Given the description of an element on the screen output the (x, y) to click on. 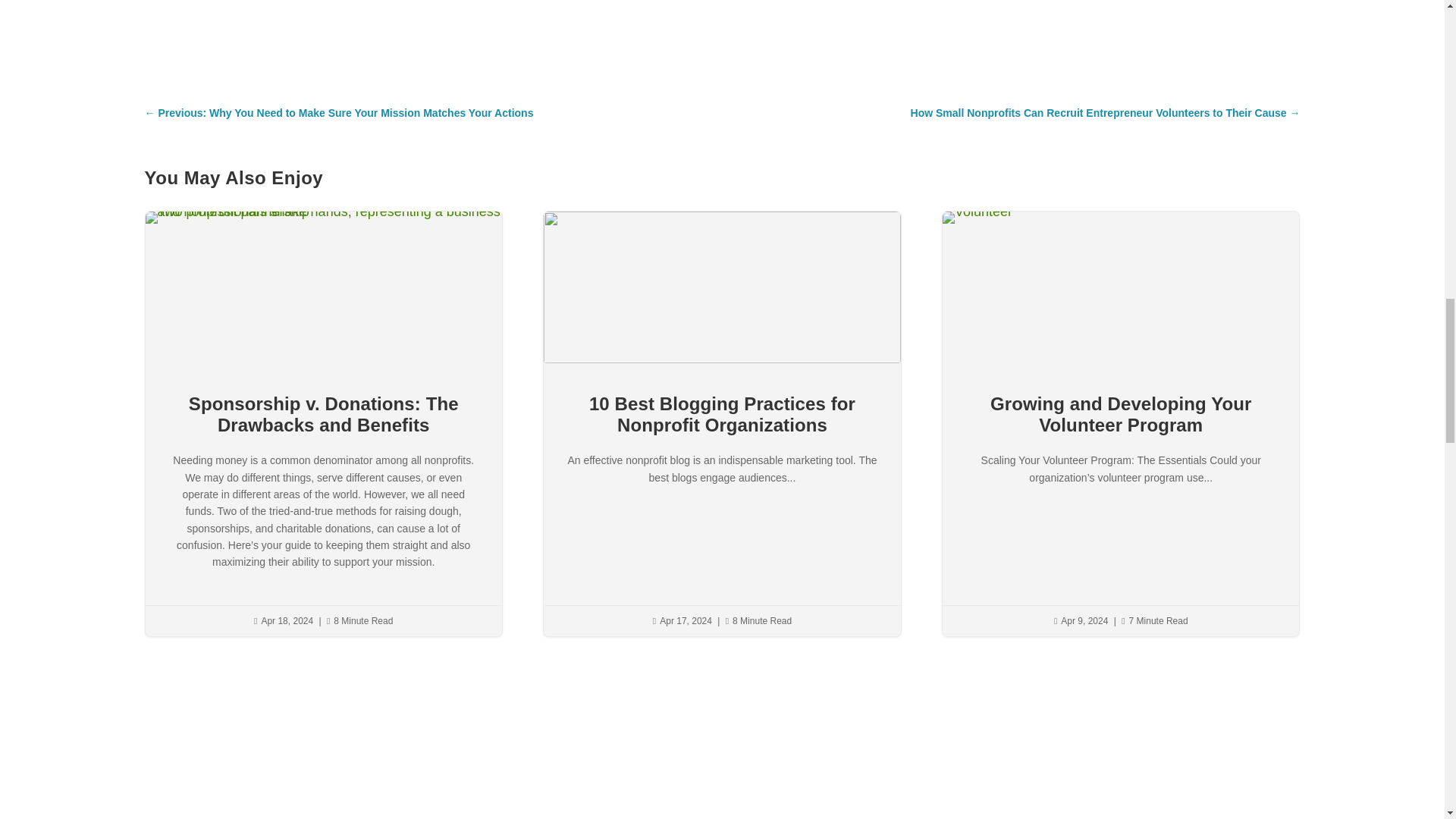
10 Best Blogging Practices for Nonprofit Organizations (722, 414)
Growing and Developing Your Volunteer Program (1121, 414)
Sponsorship v. Donations: The Drawbacks and Benefits (323, 414)
